Given the description of an element on the screen output the (x, y) to click on. 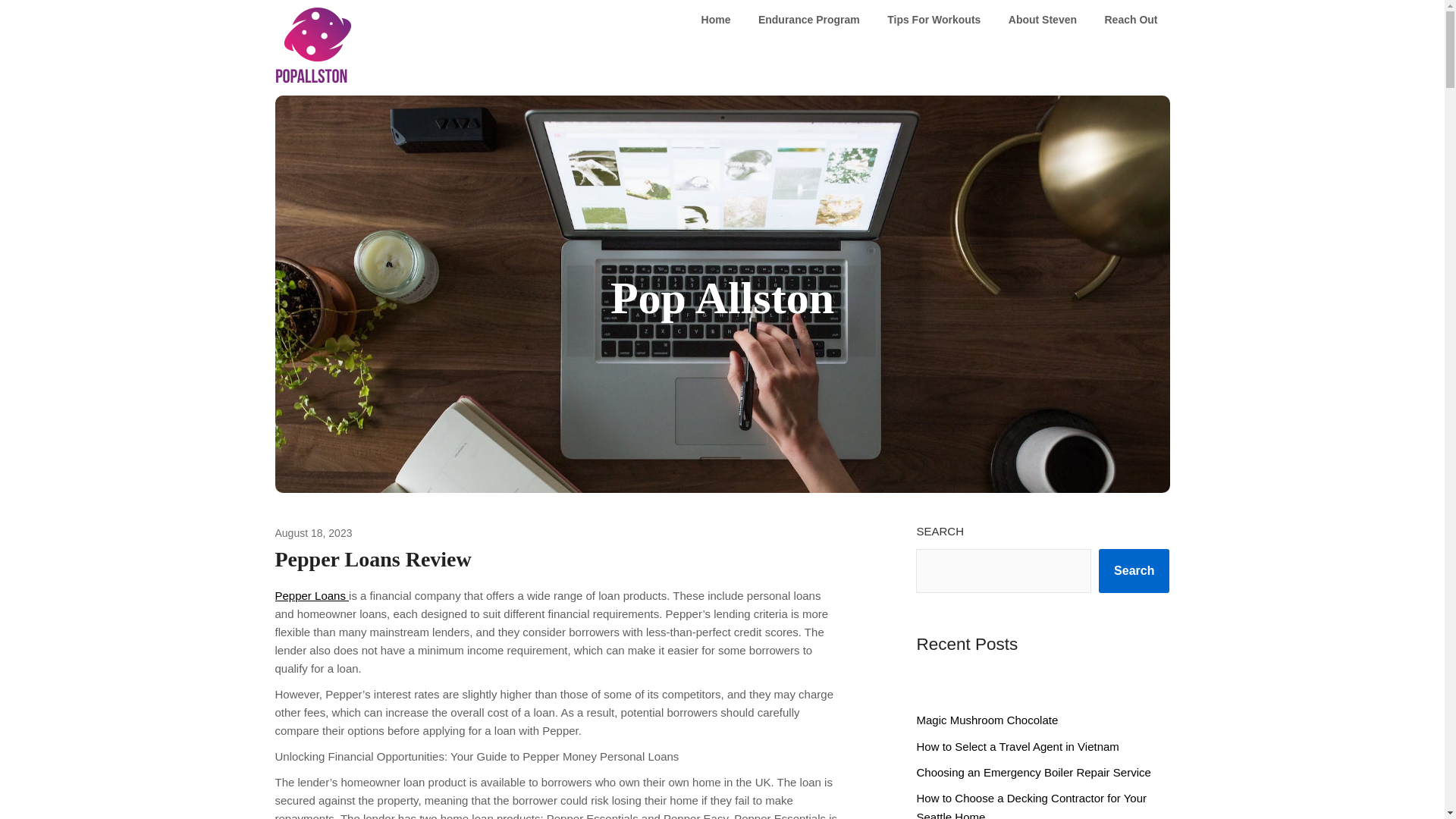
Home (715, 20)
Pepper Loans (312, 594)
Pepper Loans Review (372, 558)
Tips For Workouts (933, 20)
August 18, 2023 (313, 532)
About Steven (1042, 20)
Reach Out (1130, 20)
Endurance Program (808, 20)
